Given the description of an element on the screen output the (x, y) to click on. 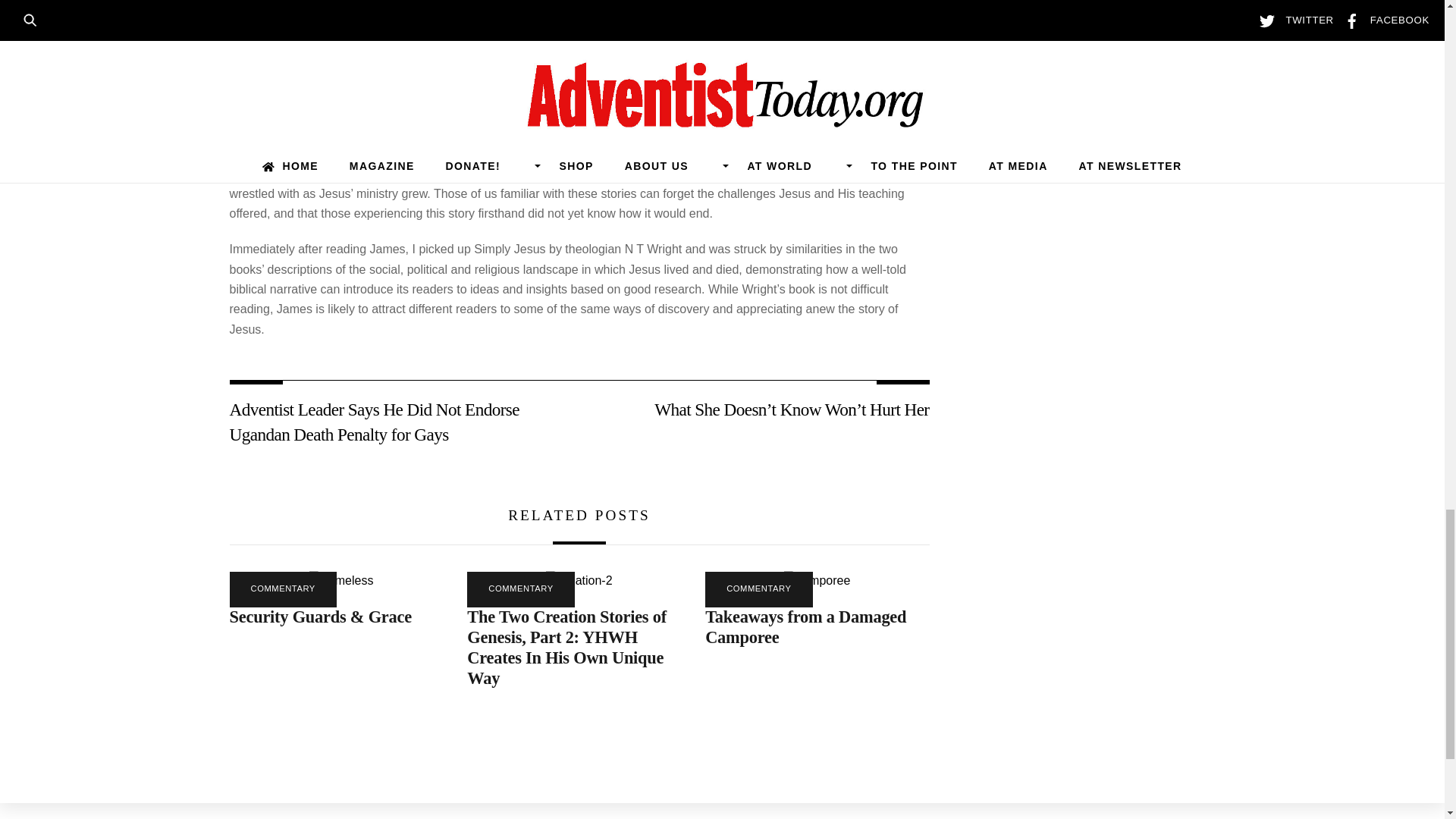
camporee (817, 580)
homeless (340, 580)
creation-2 (578, 580)
COMMENTARY (282, 589)
